Given the description of an element on the screen output the (x, y) to click on. 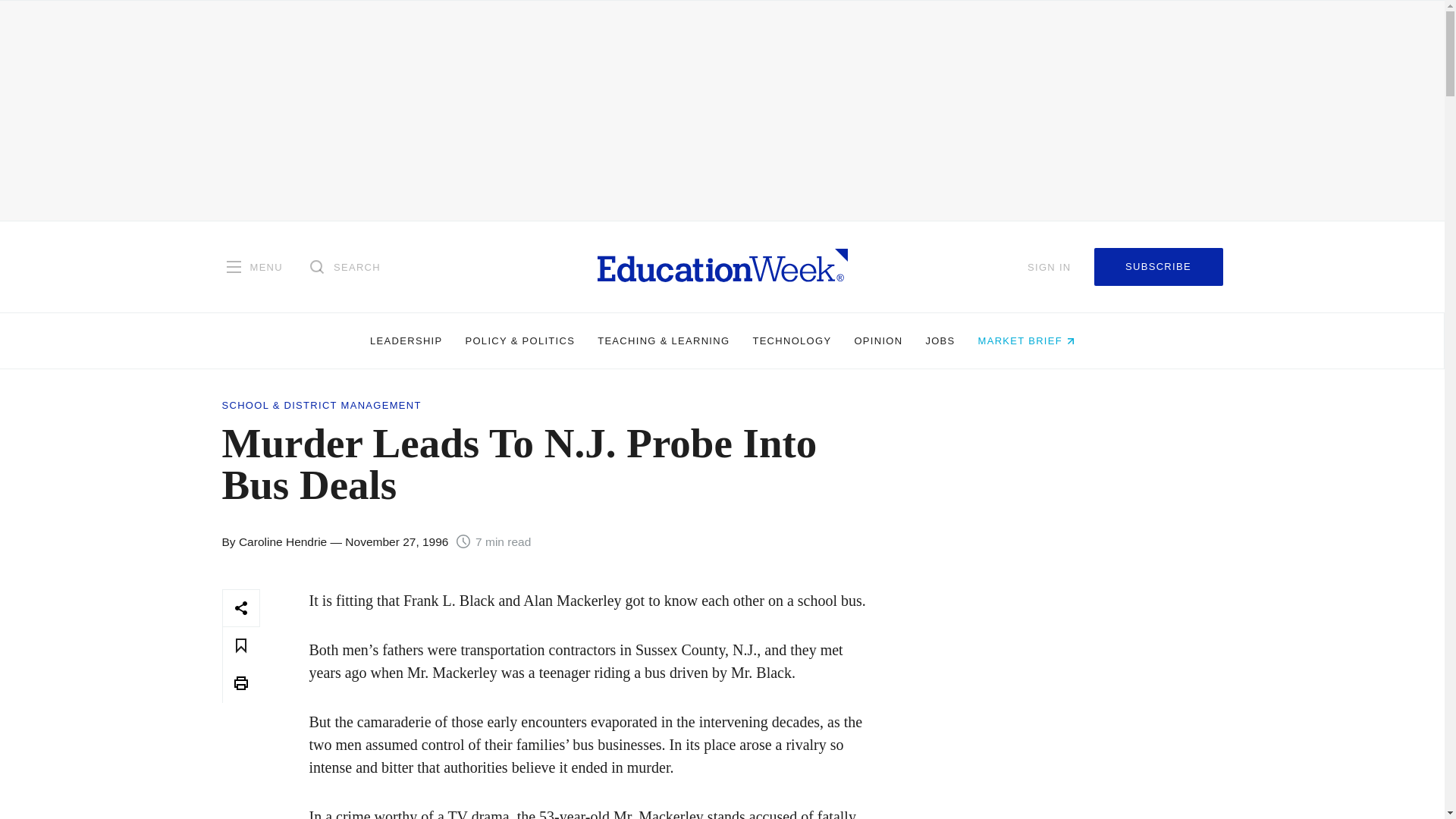
3rd party ad content (1070, 703)
Homepage (721, 266)
